Given the description of an element on the screen output the (x, y) to click on. 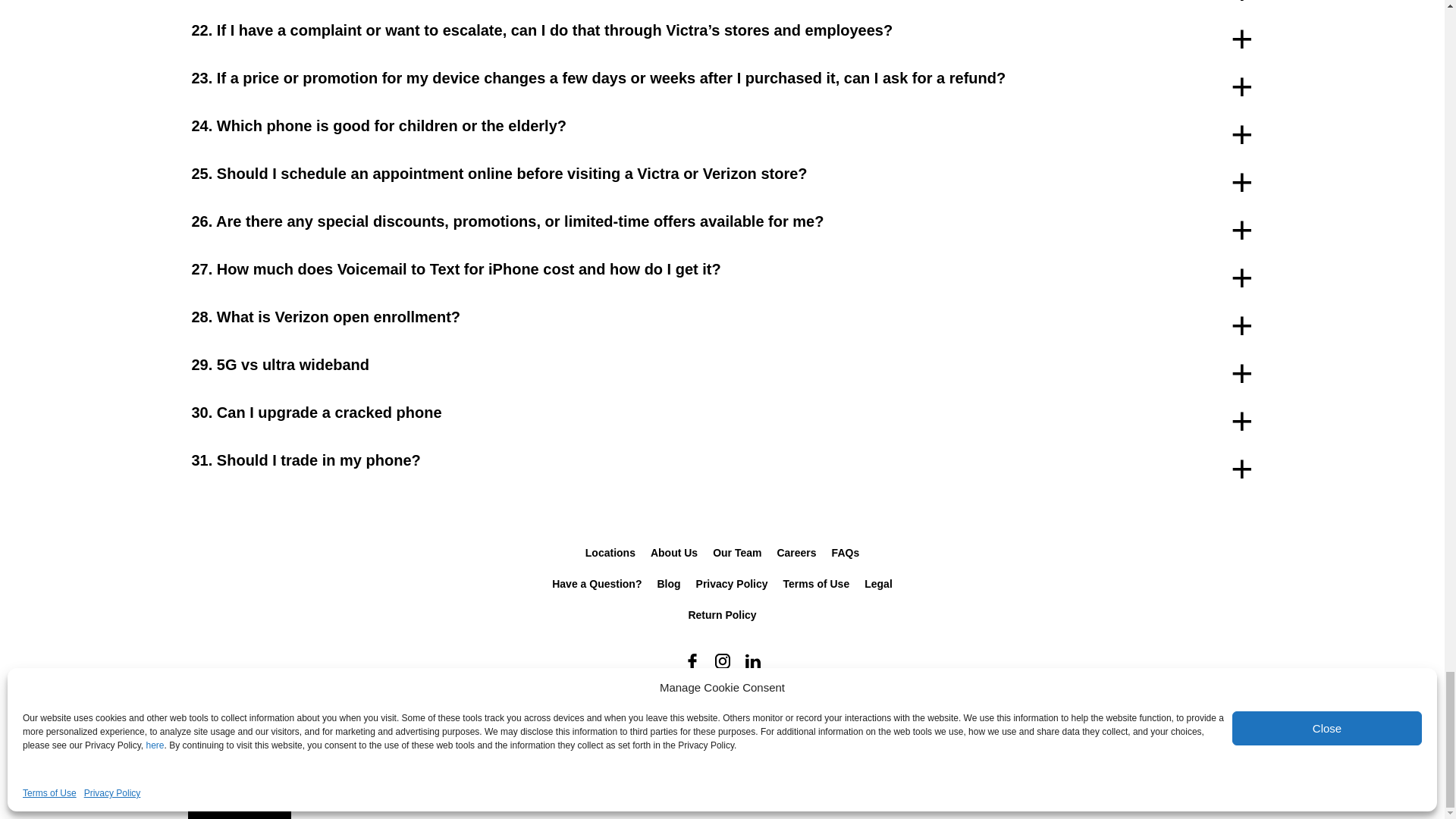
Instagram (721, 661)
Facebook (691, 661)
Linkedin (751, 661)
